Given the description of an element on the screen output the (x, y) to click on. 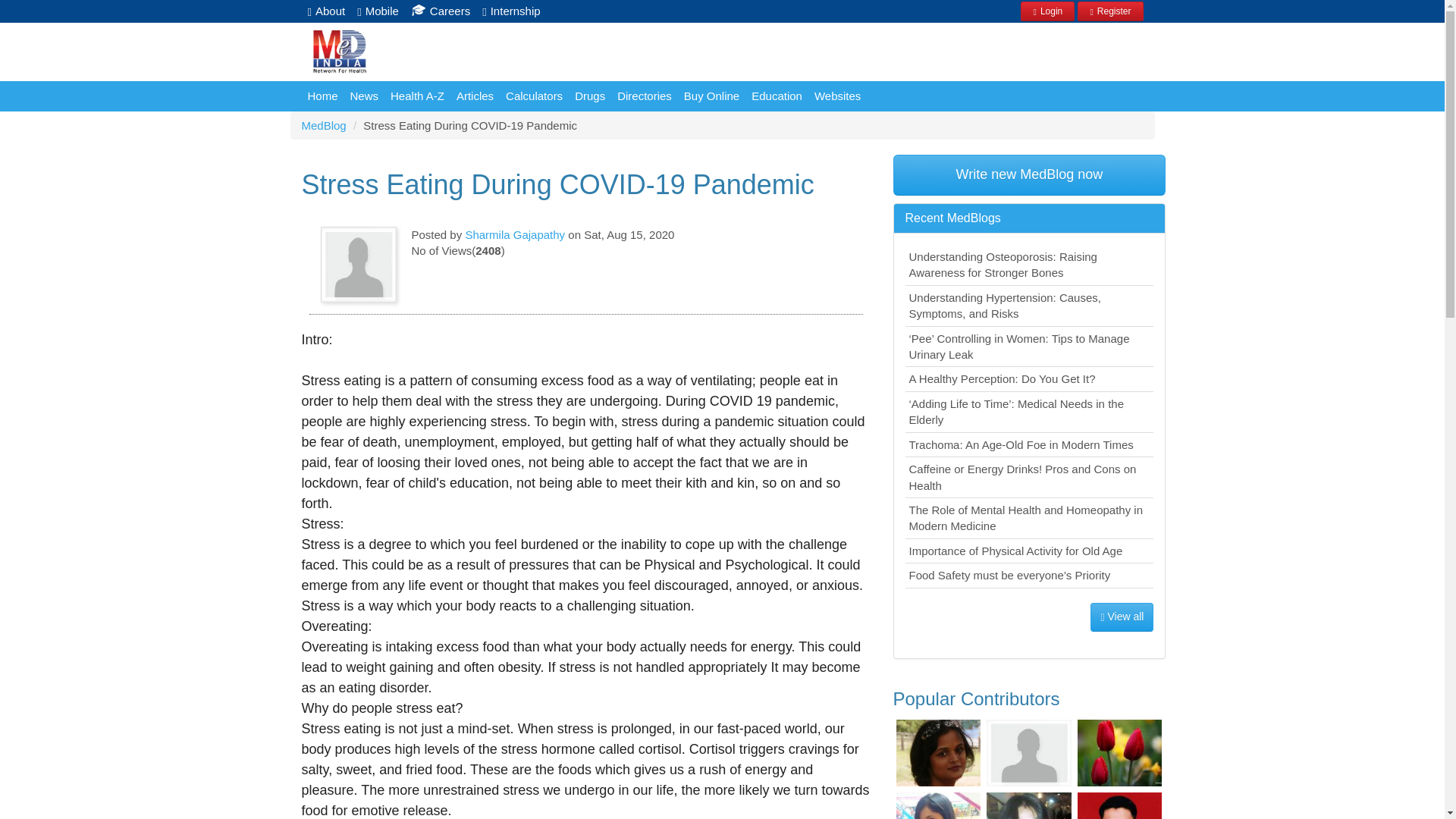
Mobile (377, 11)
News (364, 96)
Register (1109, 9)
Login (1047, 11)
Directories (644, 96)
Careers (440, 11)
HannahSP (1119, 752)
Drugs (590, 96)
About (326, 11)
